Given the description of an element on the screen output the (x, y) to click on. 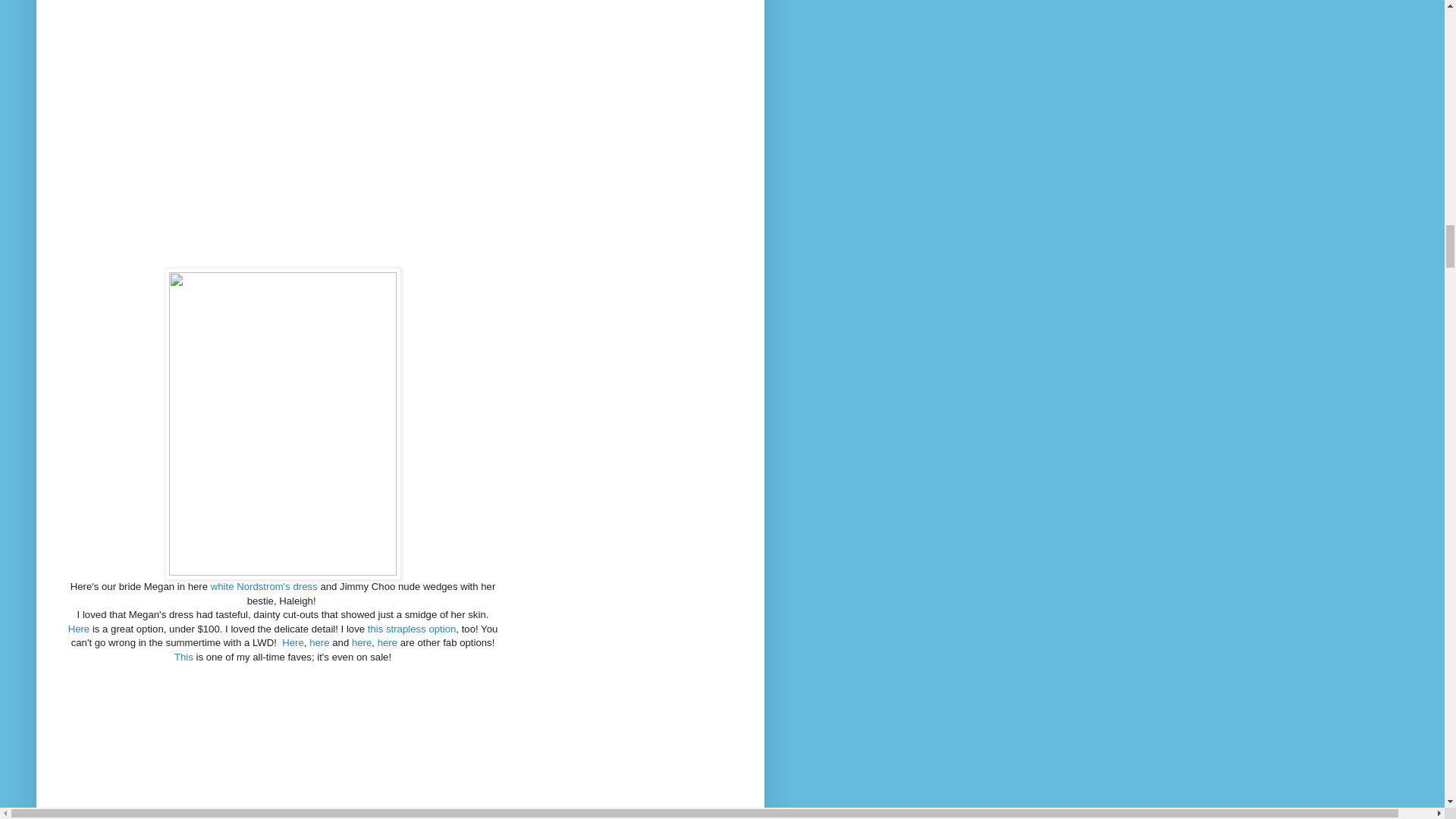
white Nordstrom's dress (264, 586)
here (318, 642)
This (183, 656)
Here (79, 628)
this strapless option (412, 628)
here (361, 642)
here (387, 642)
Here (293, 642)
